Given the description of an element on the screen output the (x, y) to click on. 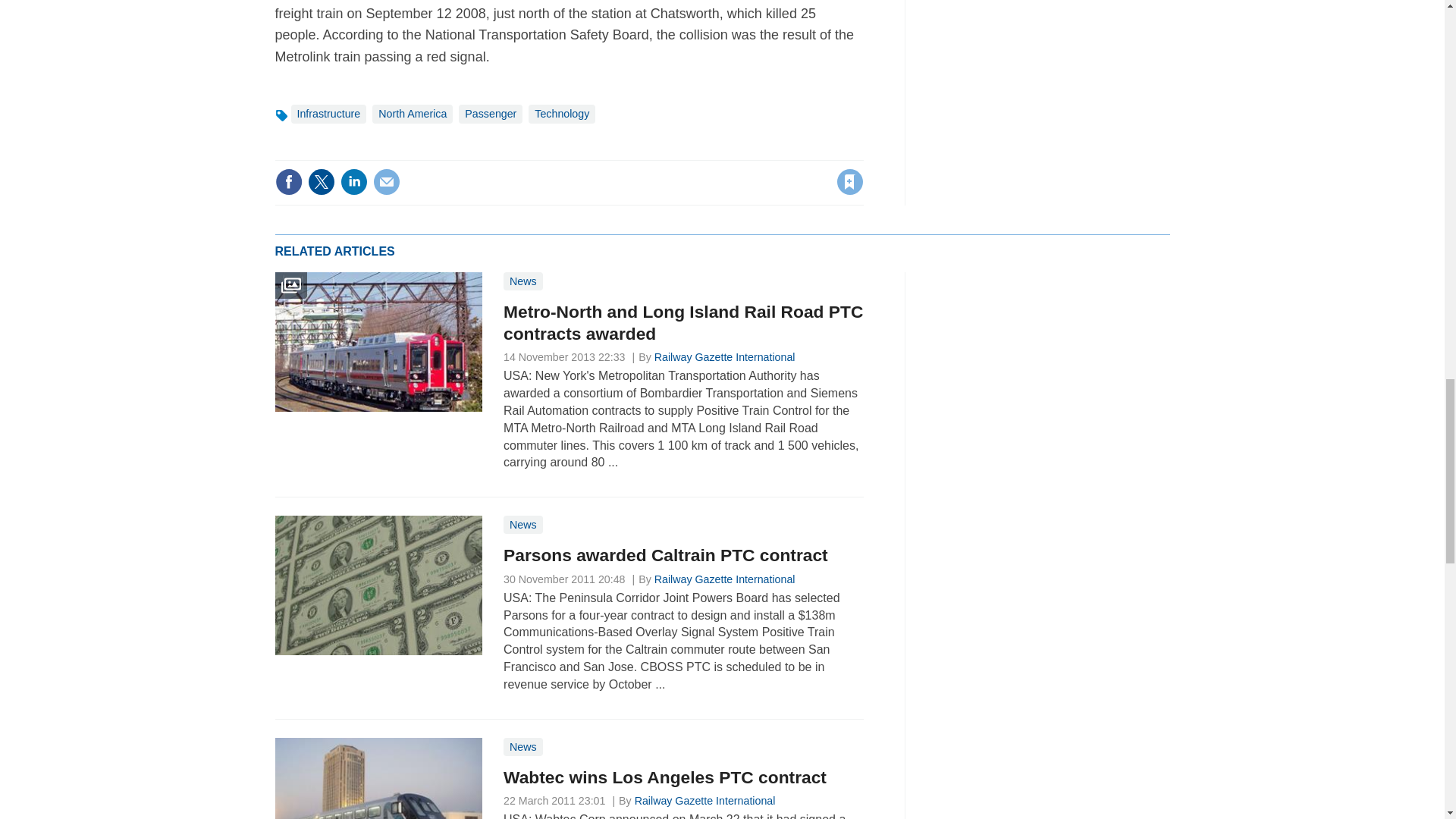
Share this on Linked in (352, 181)
Email this article (386, 181)
Share this on Facebook (288, 181)
Share this on Twitter (320, 181)
